Given the description of an element on the screen output the (x, y) to click on. 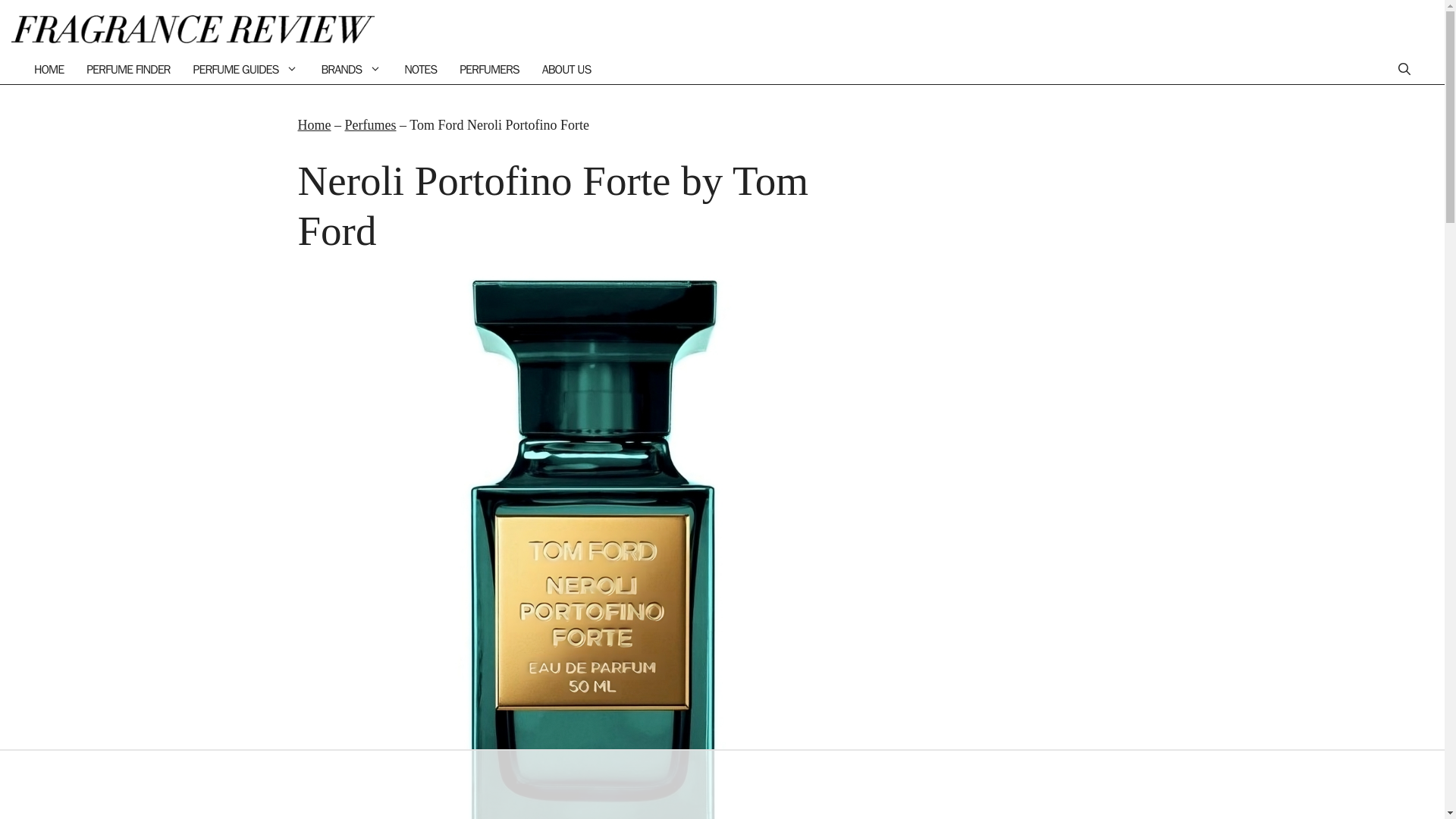
HOME (49, 69)
